Given the description of an element on the screen output the (x, y) to click on. 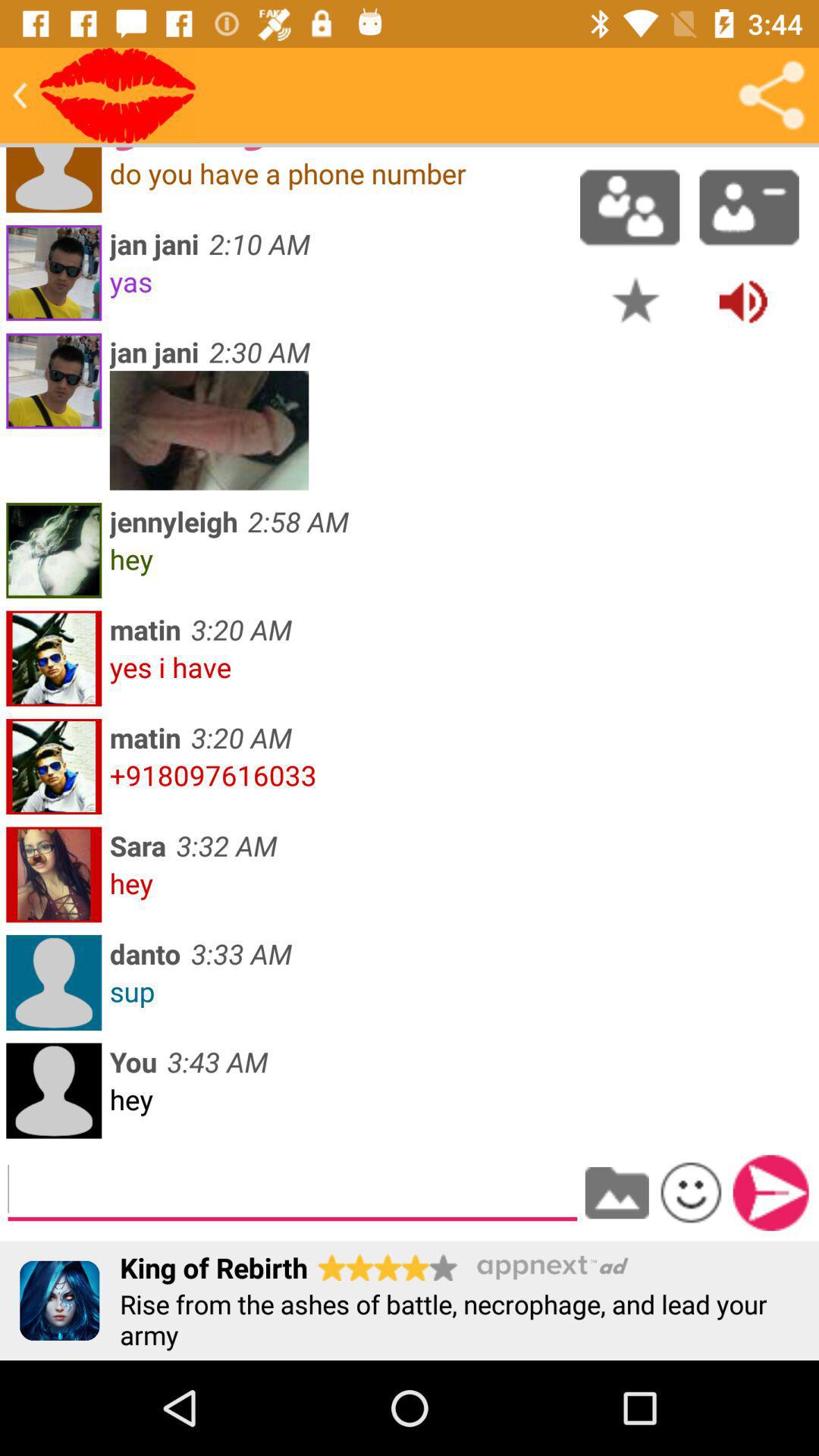
remove contact (749, 207)
